Given the description of an element on the screen output the (x, y) to click on. 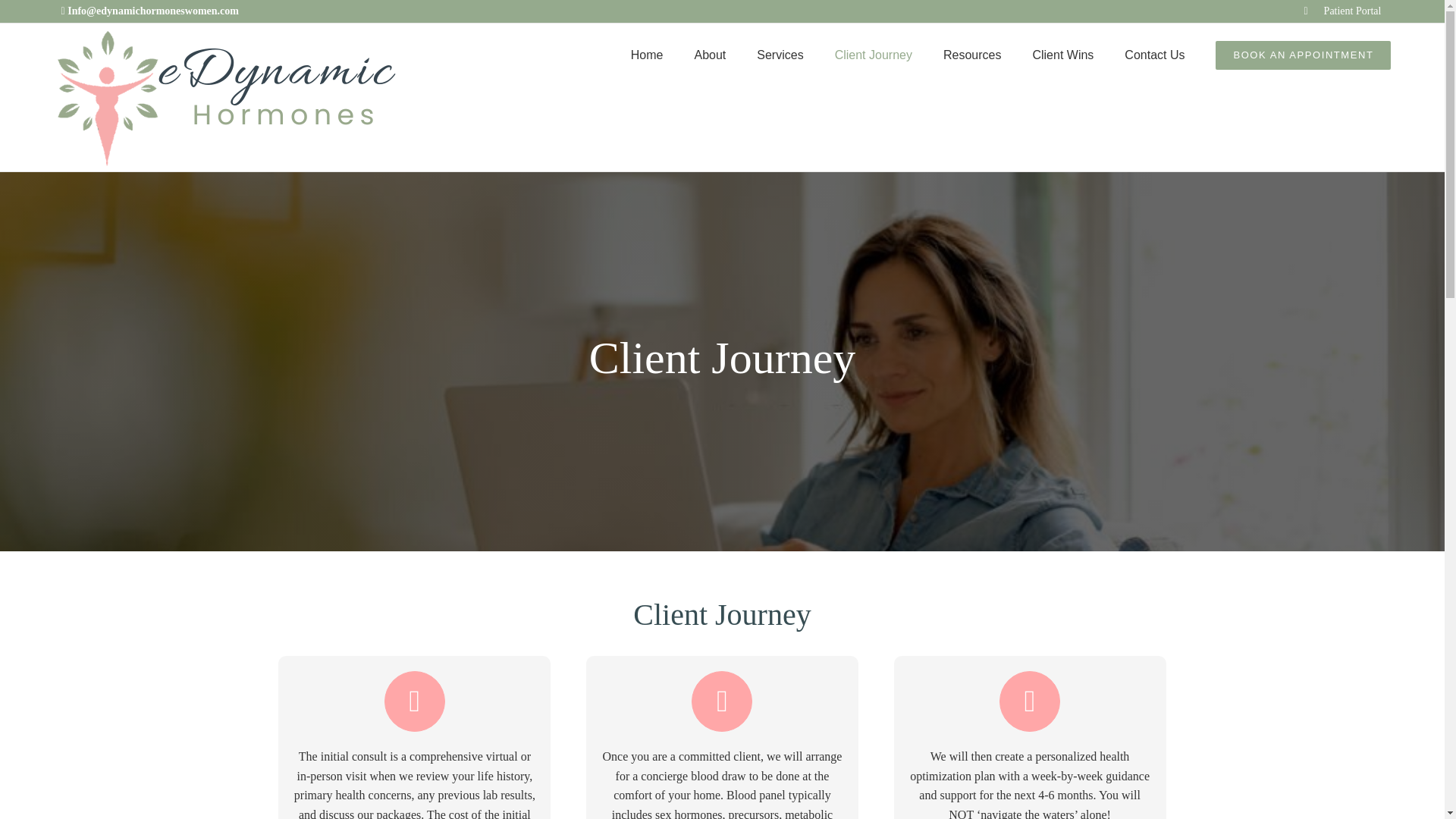
BOOK AN APPOINTMENT (1302, 54)
Resources (972, 54)
Client Wins (1062, 54)
Services (780, 54)
Client Journey (873, 54)
Patient Portal (1342, 11)
Contact Us (1154, 54)
About (709, 54)
Home (646, 54)
